Given the description of an element on the screen output the (x, y) to click on. 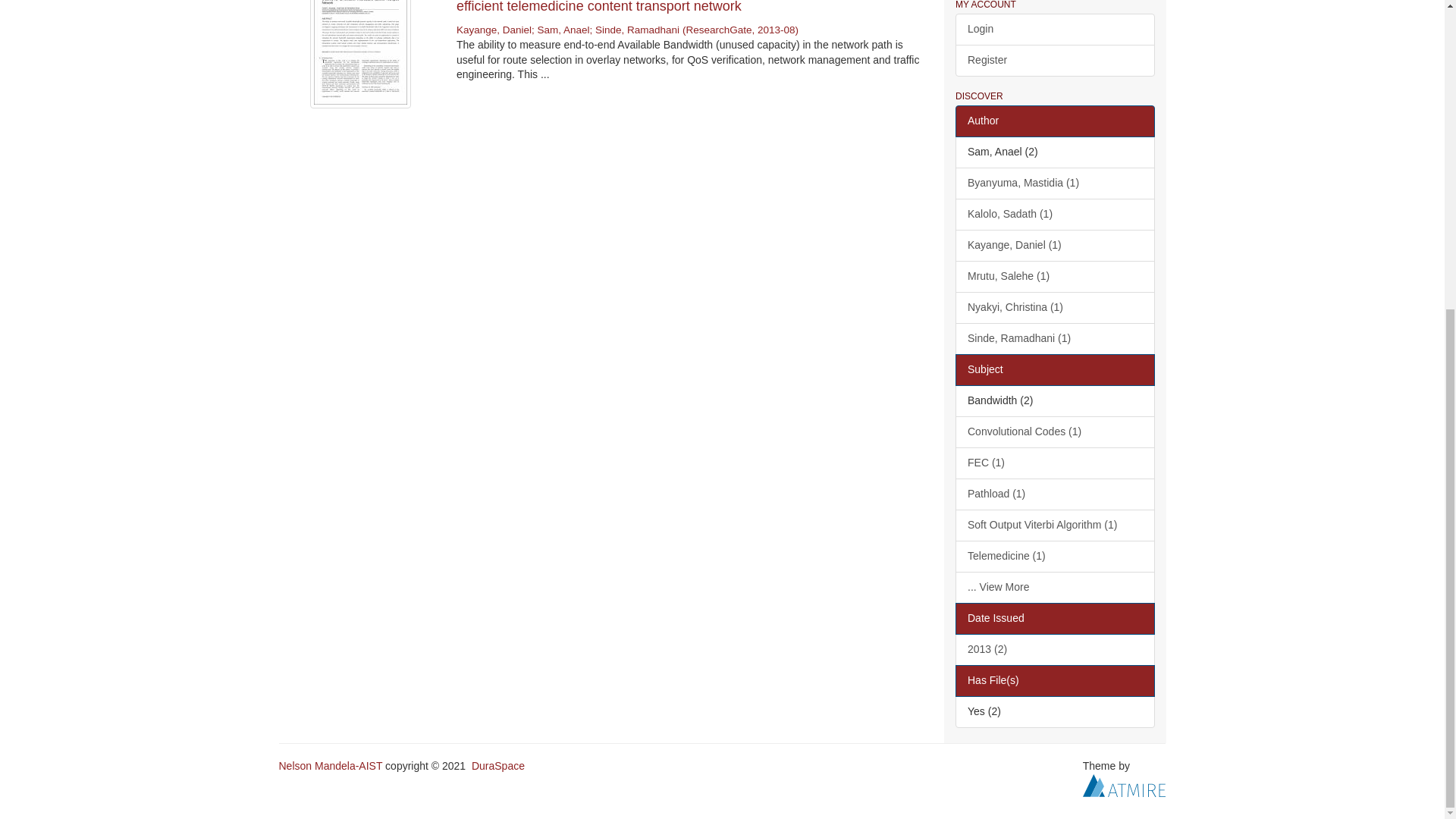
Atmire NV (1124, 784)
